Given the description of an element on the screen output the (x, y) to click on. 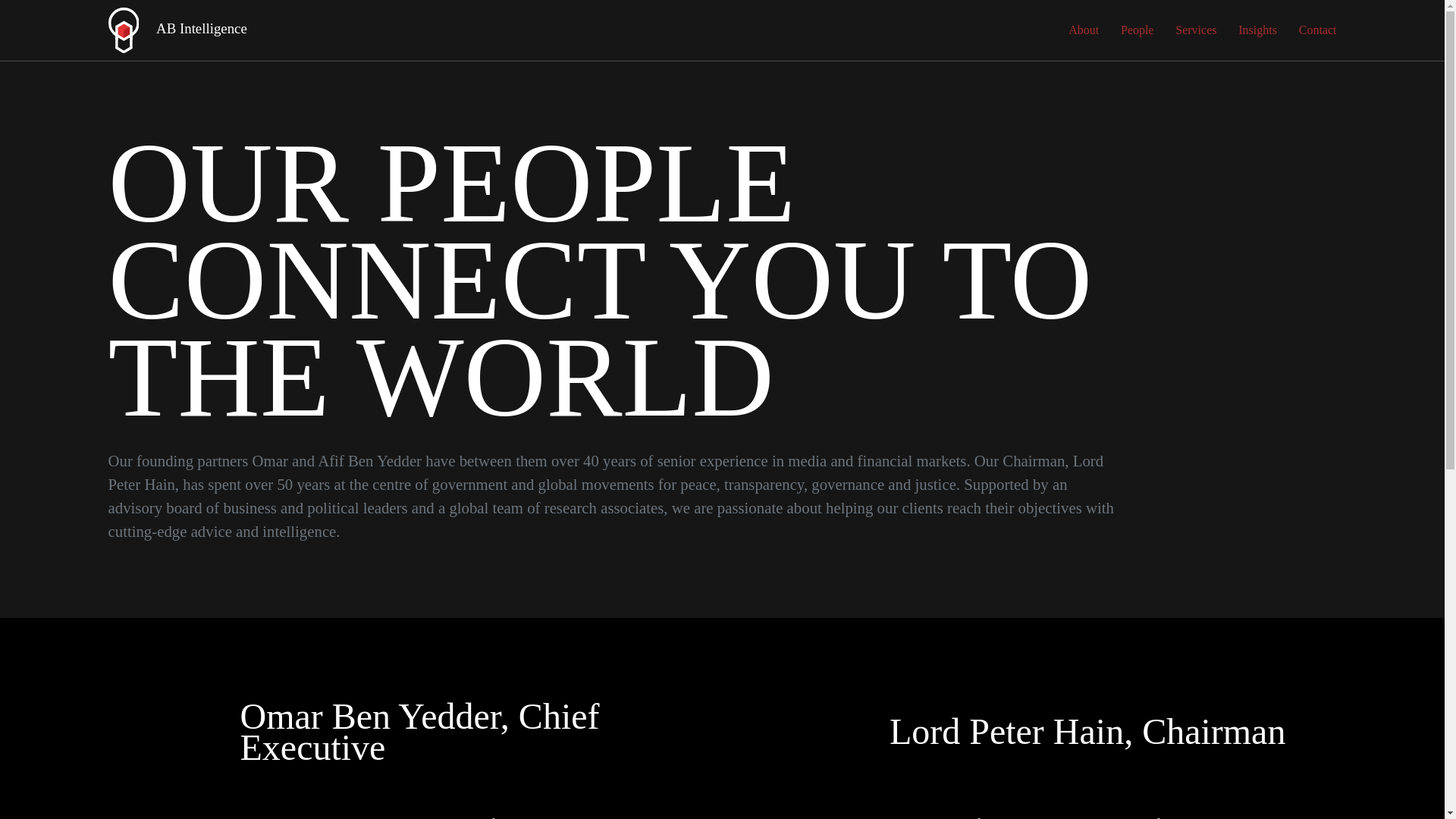
People (1137, 30)
Contact (1317, 30)
AB Intelligence (176, 30)
Services (1194, 30)
Insights (1257, 30)
About (1083, 30)
